Given the description of an element on the screen output the (x, y) to click on. 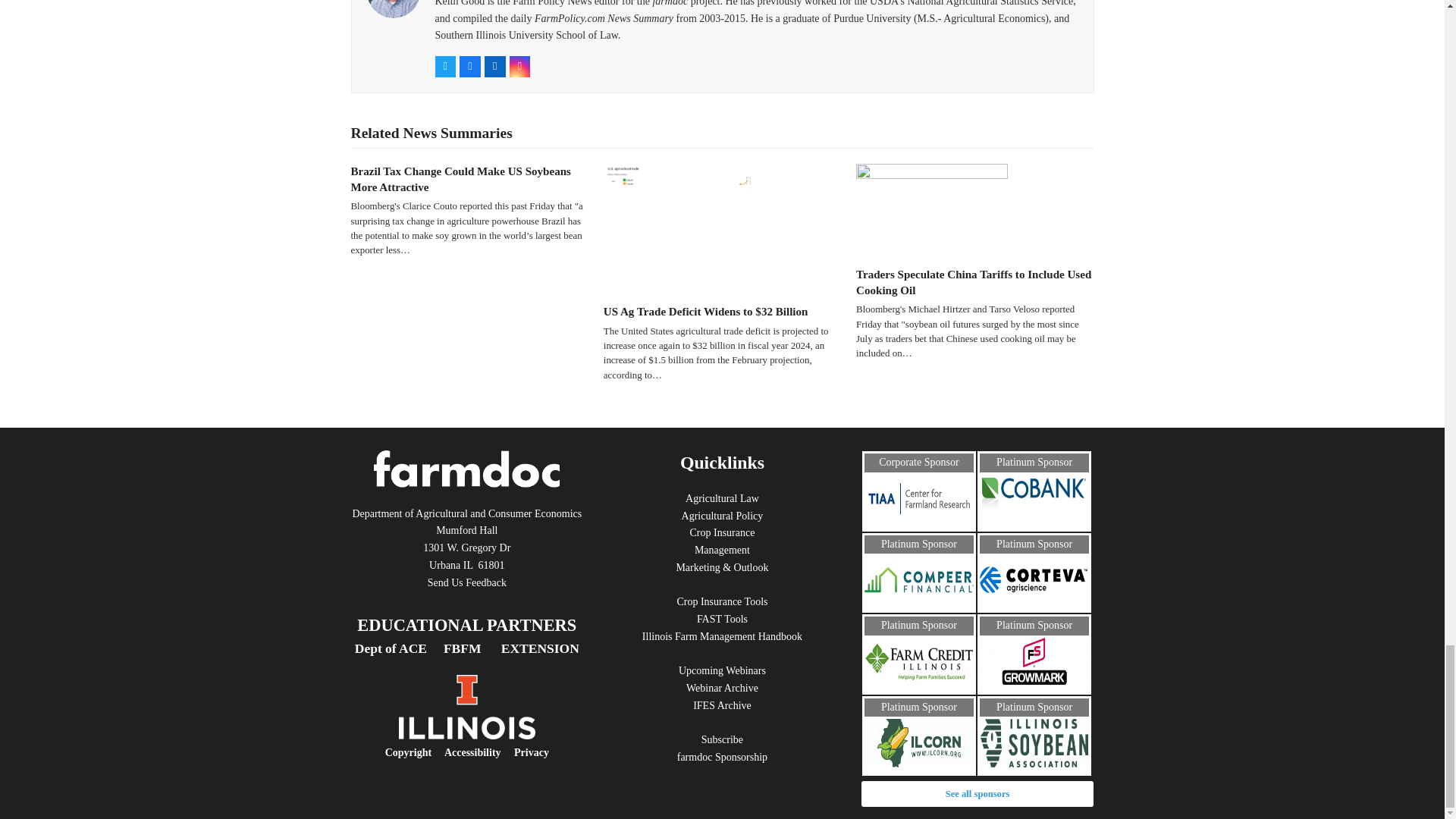
Traders Speculate China Tariffs to Include Used Cooking Oil (931, 208)
University of Illinois Homepage (466, 736)
